Given the description of an element on the screen output the (x, y) to click on. 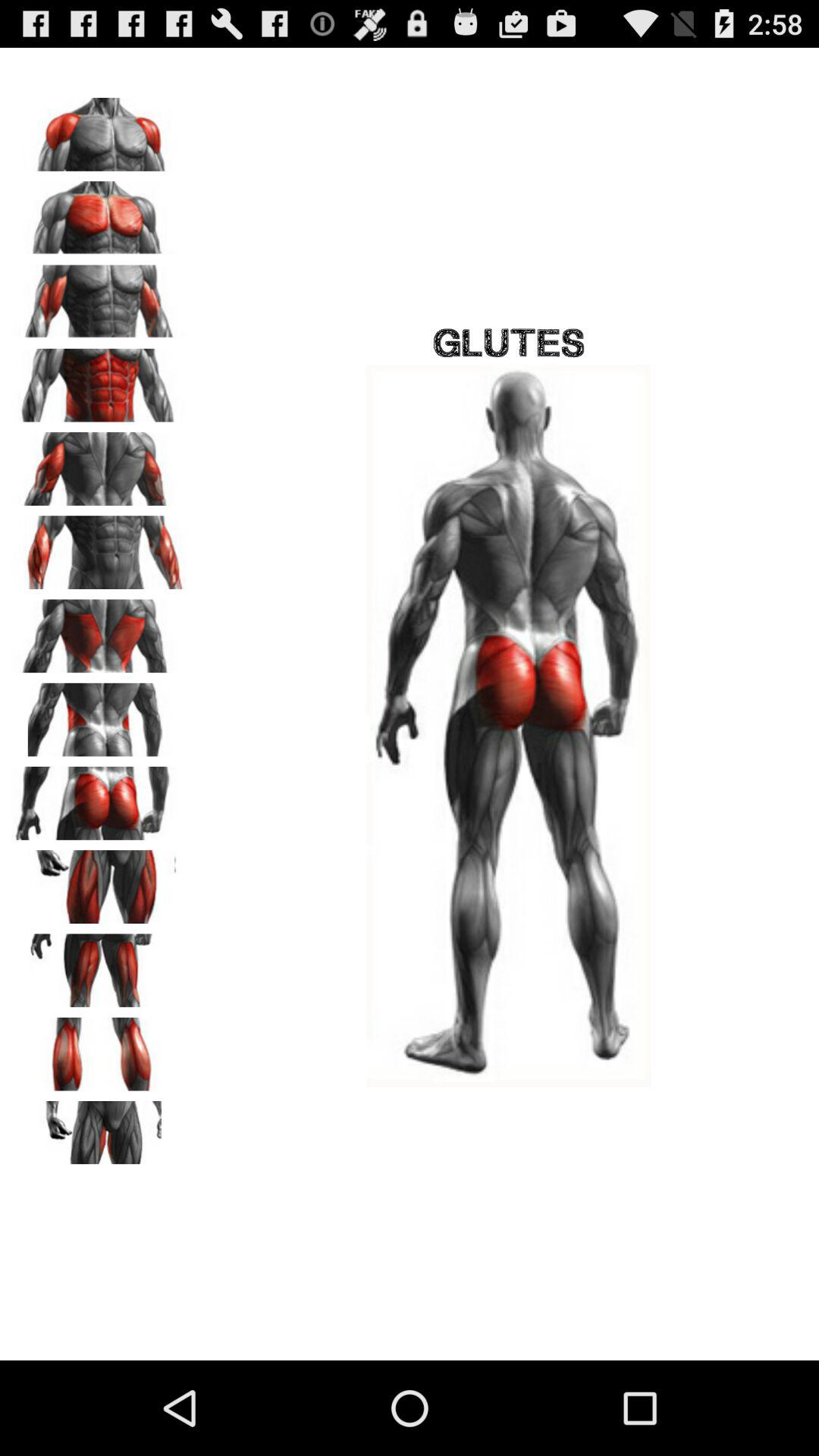
image preview (99, 1132)
